Given the description of an element on the screen output the (x, y) to click on. 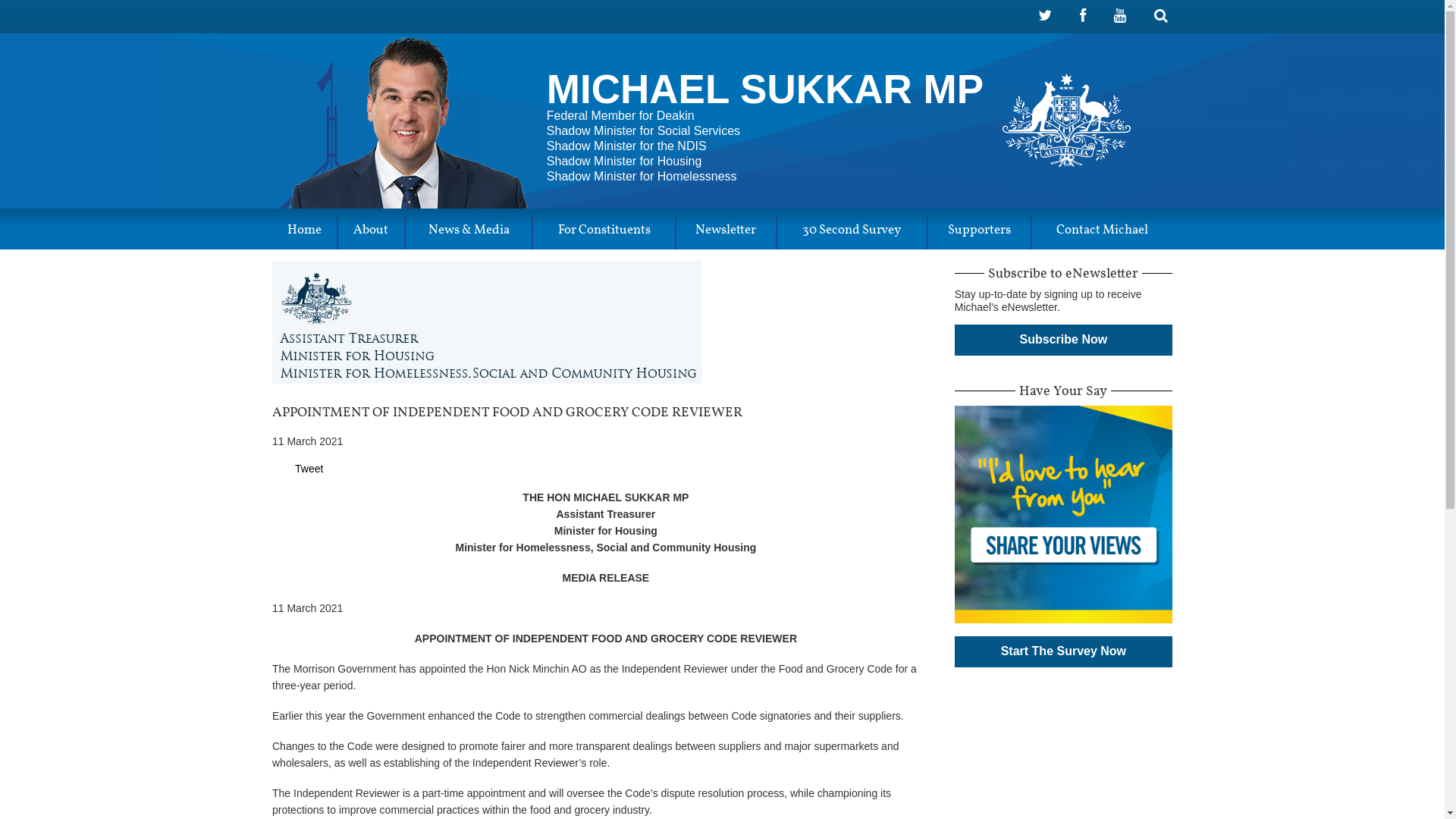
Subscribe Now Element type: text (1063, 339)
Home Element type: text (304, 232)
About Element type: text (371, 232)
Newsletter Element type: text (725, 232)
For Constituents Element type: text (603, 232)
30 Second Survey Element type: text (851, 232)
News & Media Element type: text (468, 232)
Michael Sukkar MP Element type: text (1066, 119)
Contact Michael Element type: text (1102, 232)
Supporters Element type: text (979, 232)
Start The Survey Now Element type: text (1063, 651)
Tweet Element type: text (308, 468)
